Given the description of an element on the screen output the (x, y) to click on. 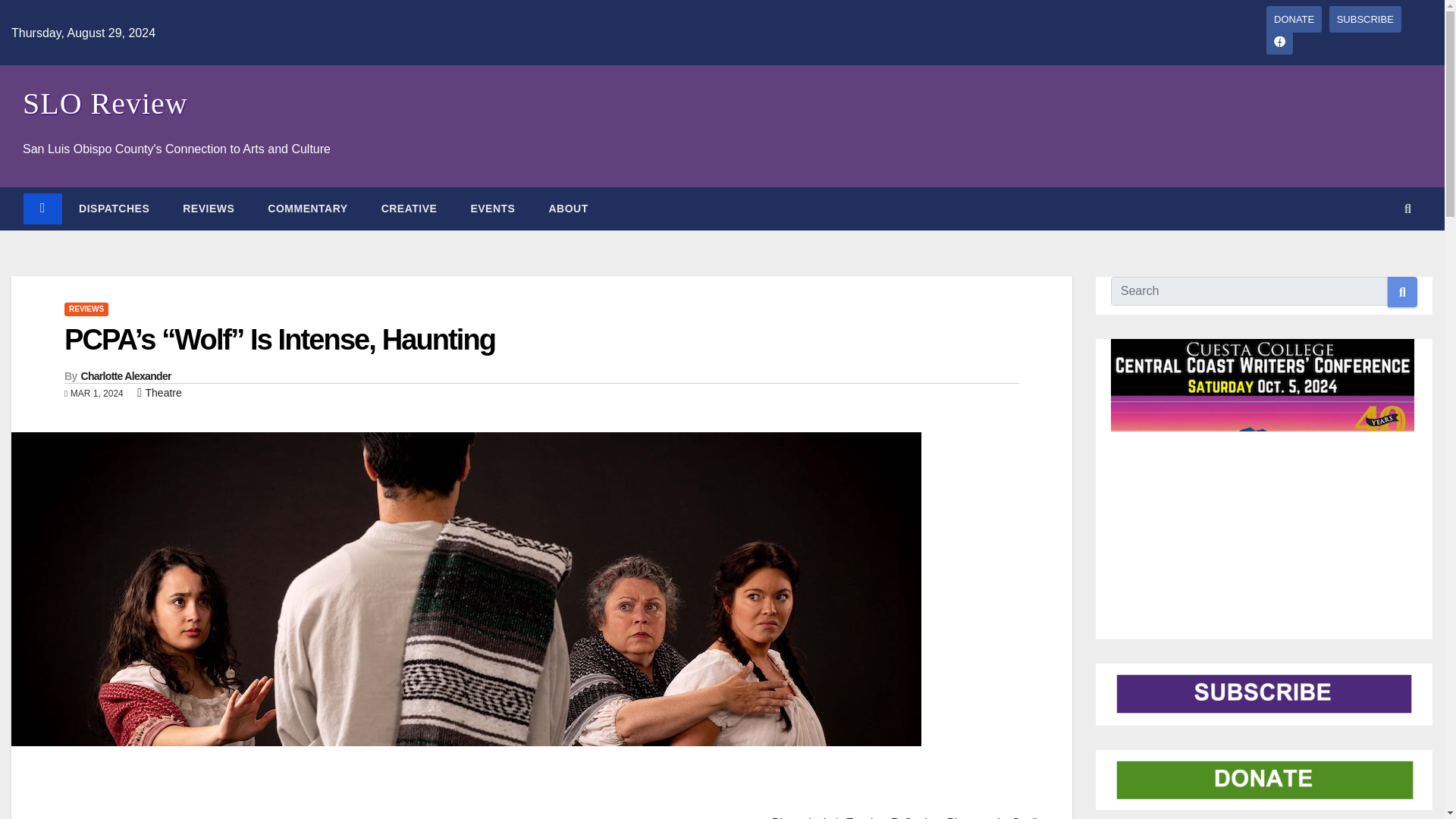
Creative (409, 208)
SLO Review (105, 103)
Events (491, 208)
ABOUT (567, 208)
DONATE (1294, 18)
Home (42, 208)
DISPATCHES (113, 208)
FACEBOOK (1279, 40)
About (567, 208)
Commentary (307, 208)
